Given the description of an element on the screen output the (x, y) to click on. 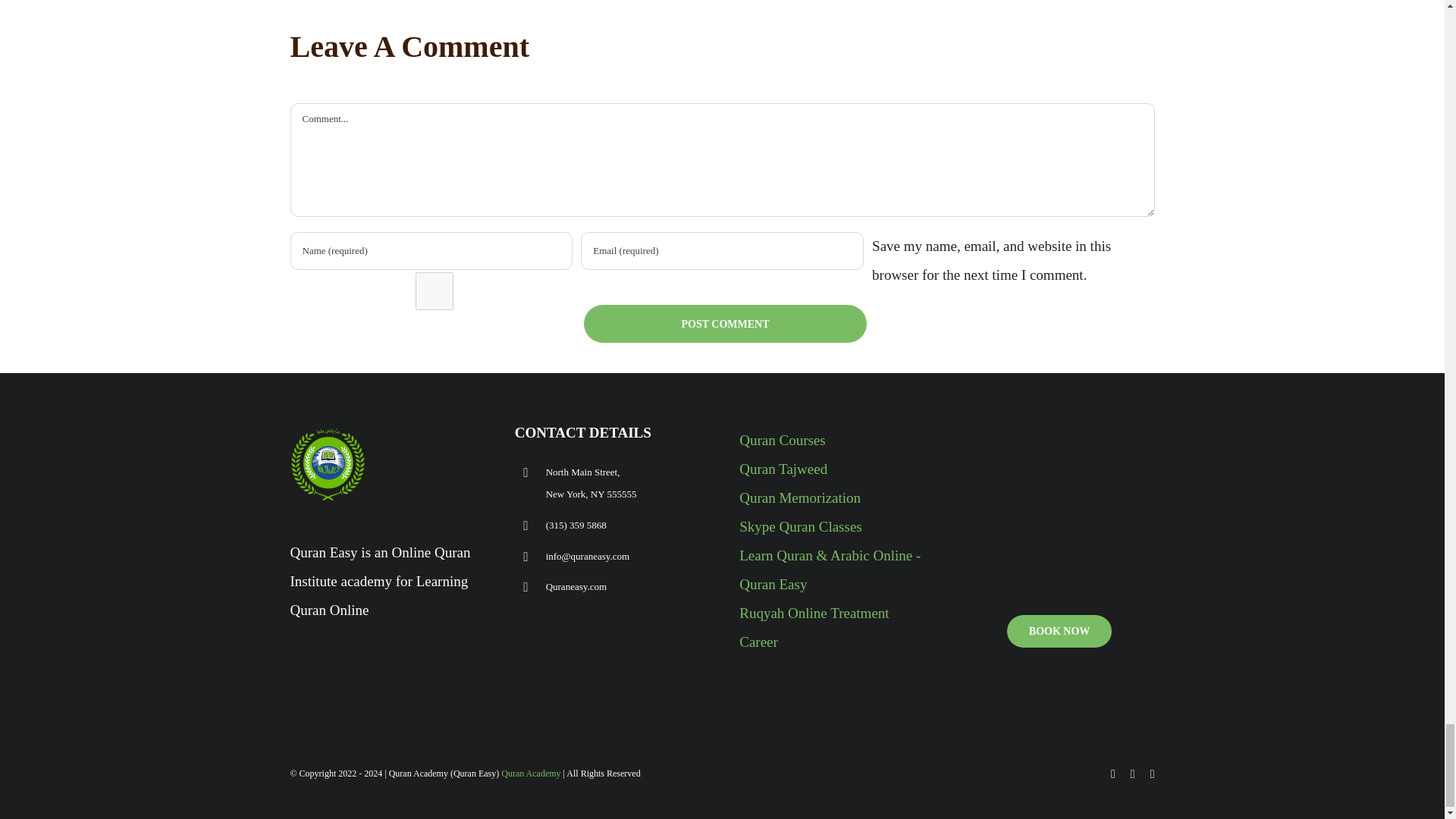
yes (433, 290)
Quran Courses (782, 439)
Quran Tajweed (783, 468)
Ruqyah Online Treatment (813, 612)
Post Comment (724, 323)
footer-ad-grid (1058, 510)
Post Comment (724, 323)
Quran Memorization (799, 497)
Skype Quran Classes (800, 526)
